Given the description of an element on the screen output the (x, y) to click on. 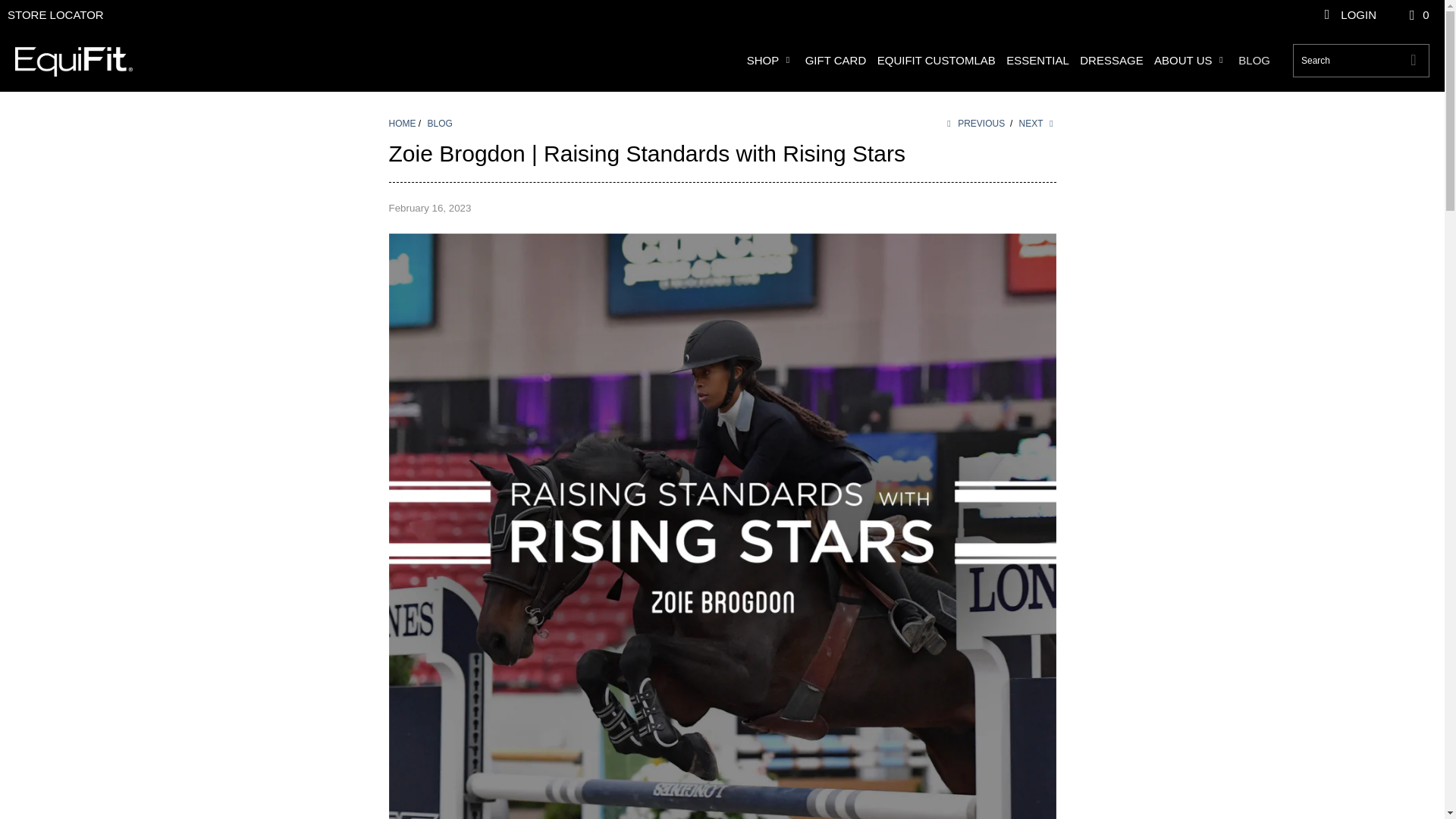
Blog (440, 122)
My Account  (1348, 15)
EquiFit (73, 60)
EquiFit (401, 122)
